Given the description of an element on the screen output the (x, y) to click on. 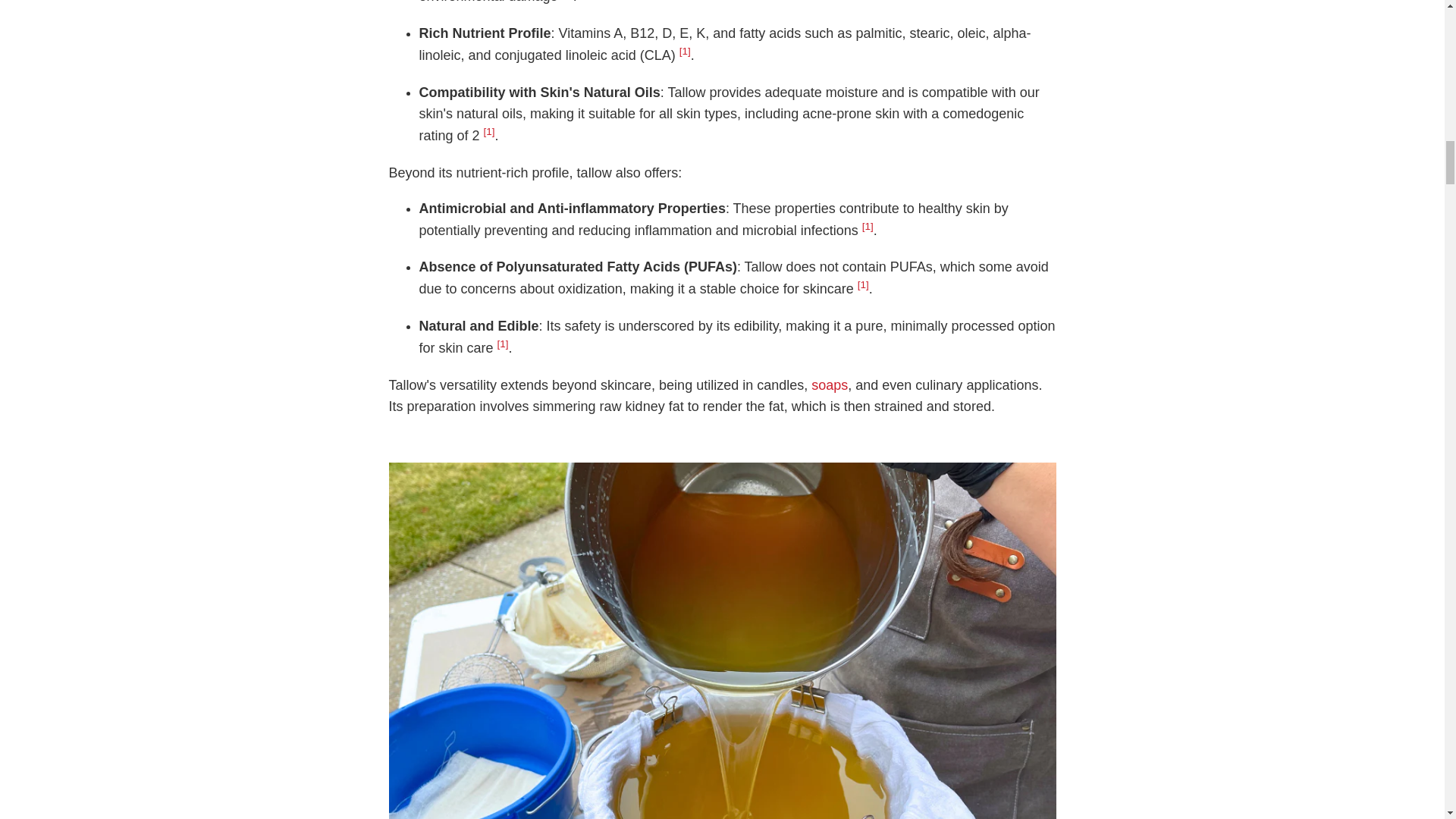
tallow soap (828, 385)
